Given the description of an element on the screen output the (x, y) to click on. 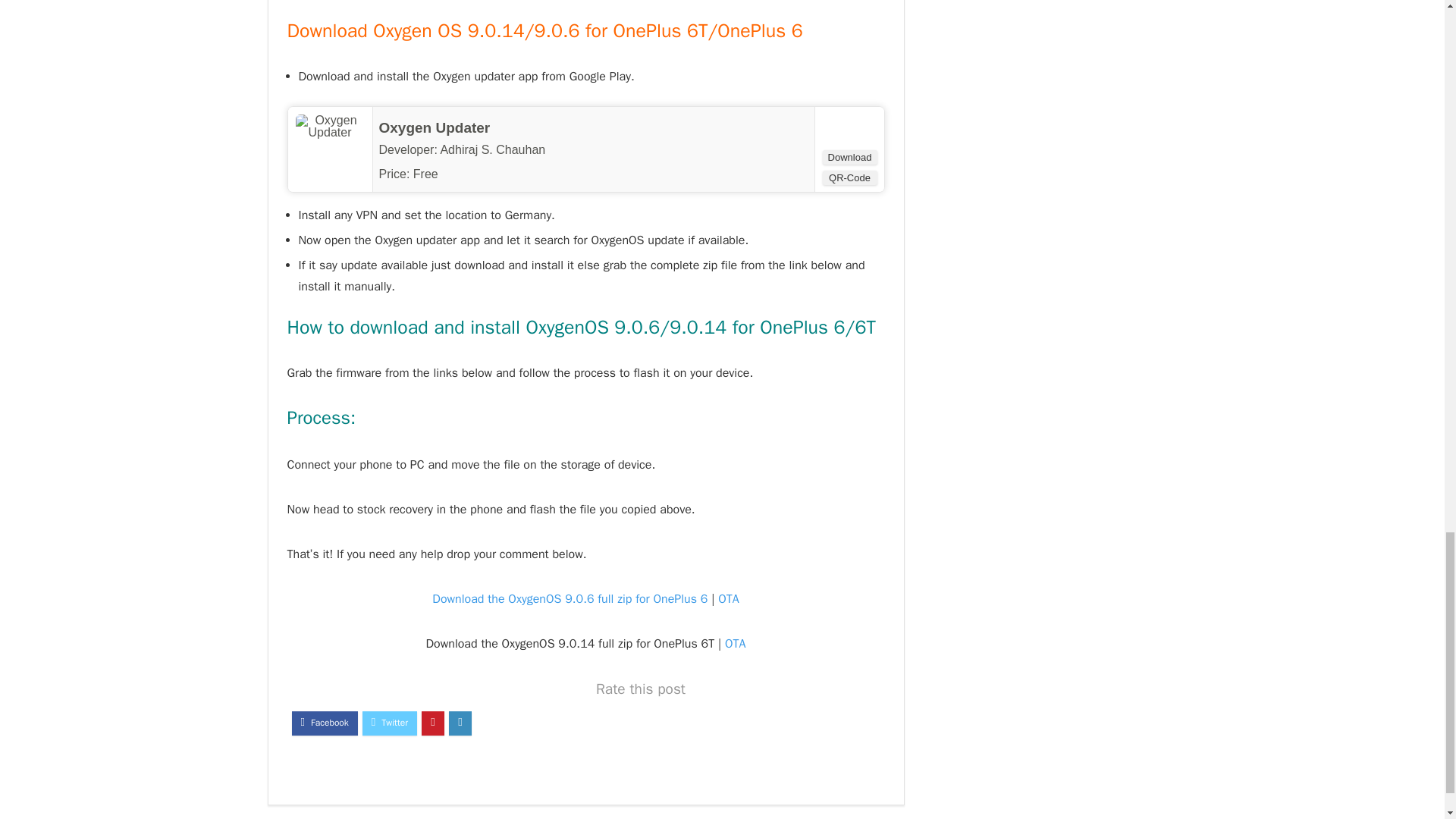
Oxygen Updater (434, 127)
Download the OxygenOS 9.0.6 full zip for OnePlus 6 (569, 598)
Download (849, 156)
Adhiraj S. Chauhan (491, 149)
OTA (735, 643)
5 of 5 stars (470, 173)
OTA (728, 598)
Oxygen Updater (434, 127)
